Given the description of an element on the screen output the (x, y) to click on. 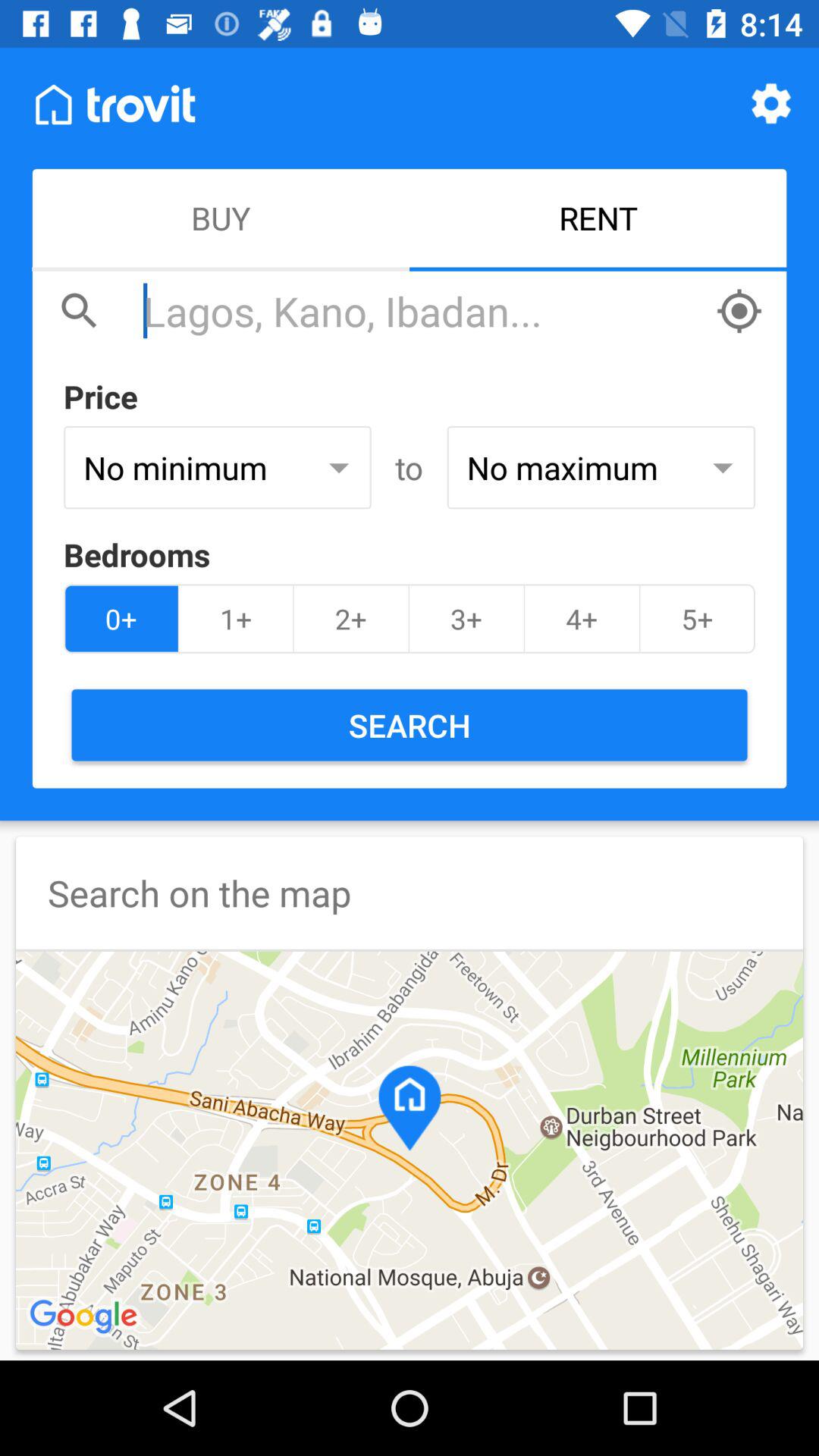
direction (739, 310)
